Given the description of an element on the screen output the (x, y) to click on. 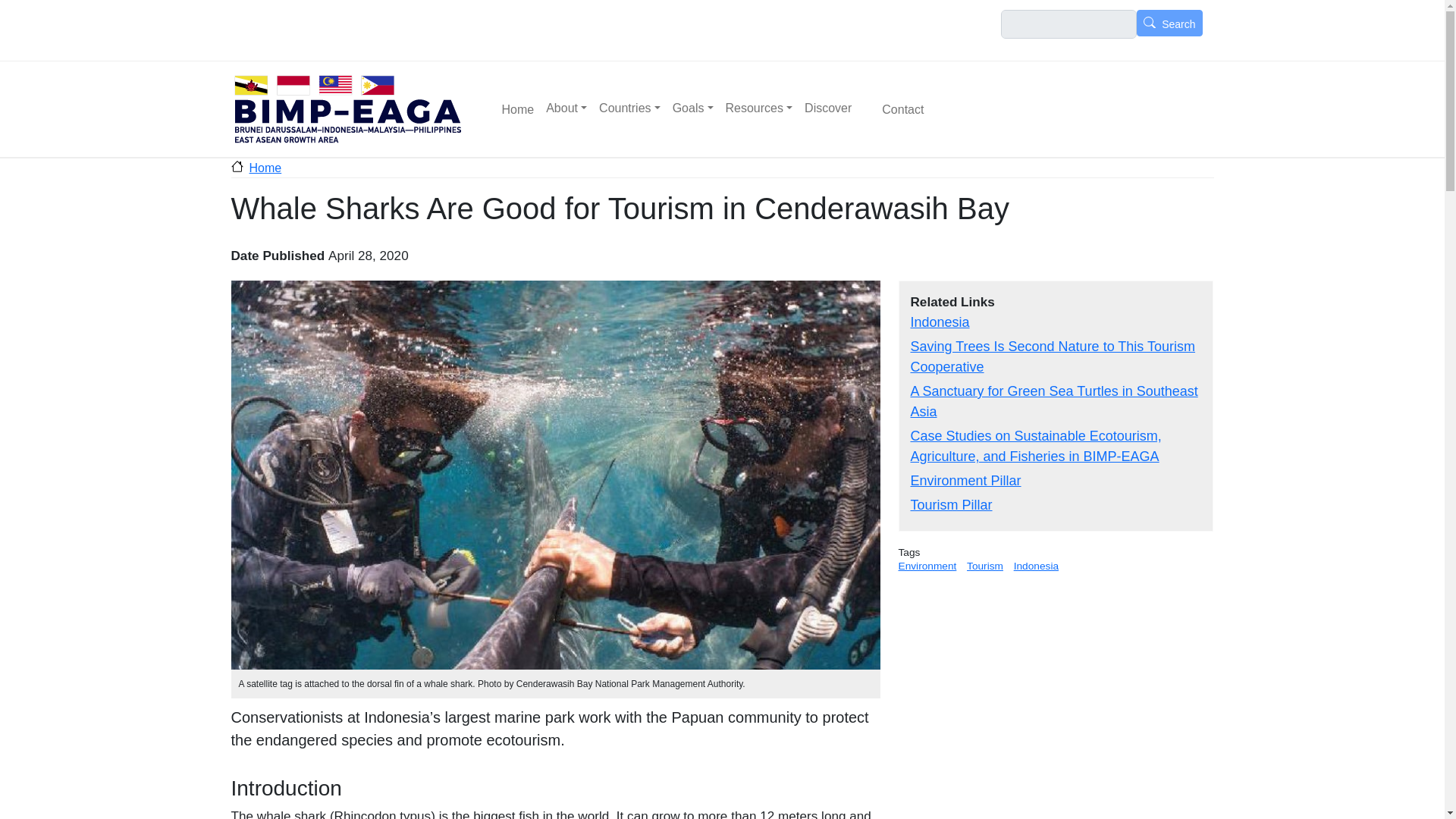
Enter the terms you wish to search for. (1069, 23)
Home (255, 167)
Goals (692, 108)
Discover (827, 108)
About BIMP-EAGA (566, 108)
Home (508, 109)
Countries (629, 108)
Search (1169, 22)
Contact BIMP-EAGA (893, 109)
Goals (692, 108)
Member Countries of BIMP-EAGA (629, 108)
Resources (759, 108)
Contact (893, 109)
Home (347, 108)
About (566, 108)
